Given the description of an element on the screen output the (x, y) to click on. 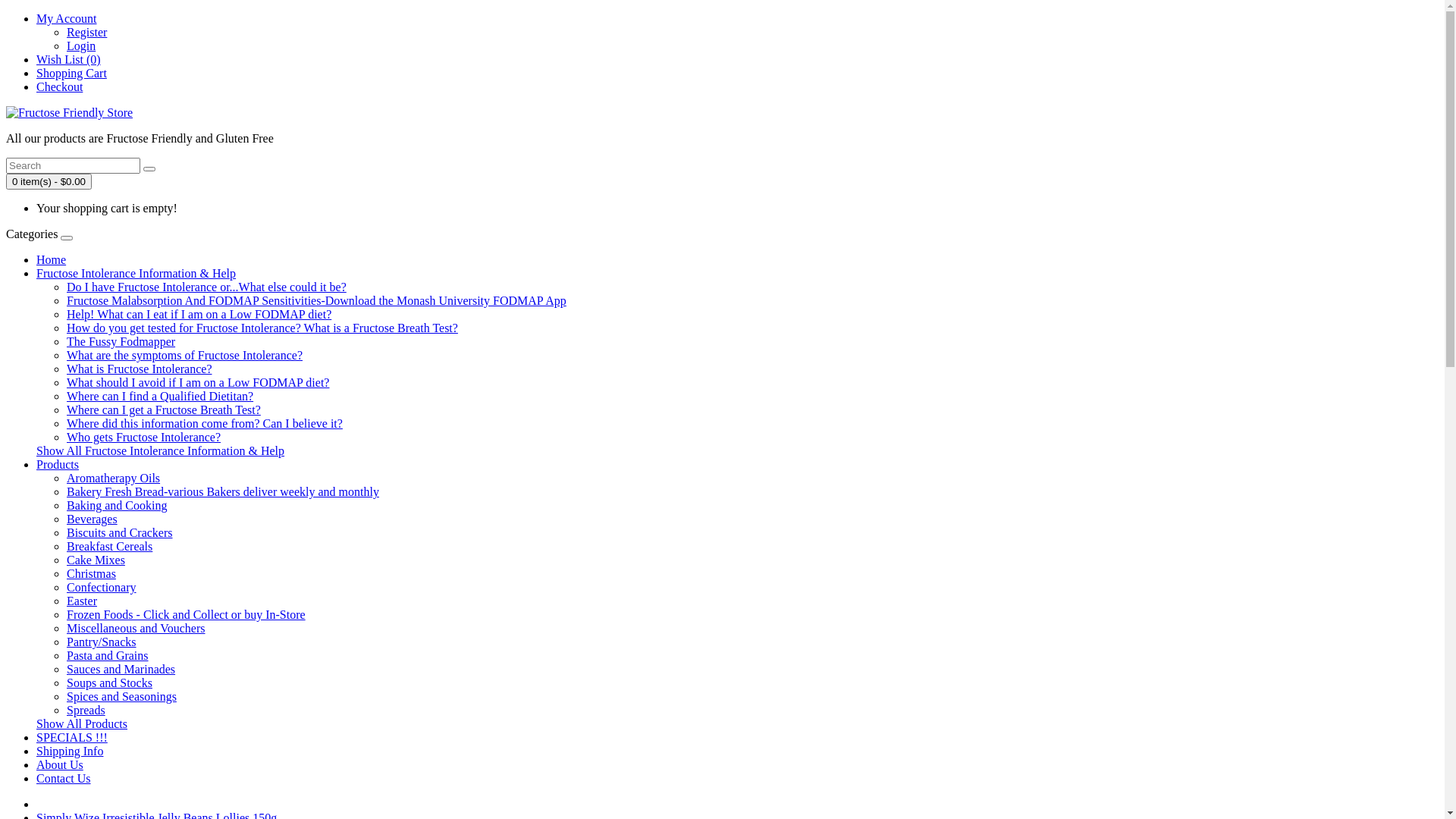
Where did this information come from? Can I believe it? Element type: text (204, 423)
What is Fructose Intolerance? Element type: text (138, 368)
Fructose Friendly Store Element type: hover (69, 112)
Christmas Element type: text (91, 573)
Soups and Stocks Element type: text (109, 682)
Pantry/Snacks Element type: text (101, 641)
Easter Element type: text (81, 600)
Sauces and Marinades Element type: text (120, 668)
Wish List (0) Element type: text (68, 59)
Login Element type: text (80, 45)
Show All Products Element type: text (81, 723)
Frozen Foods - Click and Collect or buy In-Store Element type: text (185, 614)
What should I avoid if I am on a Low FODMAP diet? Element type: text (197, 382)
Products Element type: text (57, 464)
Show All Fructose Intolerance Information & Help Element type: text (160, 450)
Help! What can I eat if I am on a Low FODMAP diet? Element type: text (198, 313)
My Account Element type: text (66, 18)
What are the symptoms of Fructose Intolerance? Element type: text (184, 354)
Checkout Element type: text (59, 86)
Spreads Element type: text (85, 709)
Fructose Intolerance Information & Help Element type: text (135, 272)
Breakfast Cereals Element type: text (109, 545)
Cake Mixes Element type: text (95, 559)
SPECIALS !!! Element type: text (71, 737)
Aromatherapy Oils Element type: text (113, 477)
Pasta and Grains Element type: text (107, 655)
Baking and Cooking Element type: text (116, 504)
The Fussy Fodmapper Element type: text (120, 341)
Contact Us Element type: text (63, 777)
Spices and Seasonings Element type: text (121, 696)
About Us Element type: text (59, 764)
Register Element type: text (86, 31)
Bakery Fresh Bread-various Bakers deliver weekly and monthly Element type: text (222, 491)
Who gets Fructose Intolerance? Element type: text (143, 436)
Where can I get a Fructose Breath Test? Element type: text (163, 409)
Beverages Element type: text (91, 518)
Confectionary Element type: text (101, 586)
Do I have Fructose Intolerance or...What else could it be? Element type: text (206, 286)
0 item(s) - $0.00 Element type: text (48, 181)
Where can I find a Qualified Dietitan? Element type: text (159, 395)
Home Element type: text (50, 259)
Shipping Info Element type: text (69, 750)
Shopping Cart Element type: text (71, 72)
Miscellaneous and Vouchers Element type: text (135, 627)
Biscuits and Crackers Element type: text (119, 532)
